Given the description of an element on the screen output the (x, y) to click on. 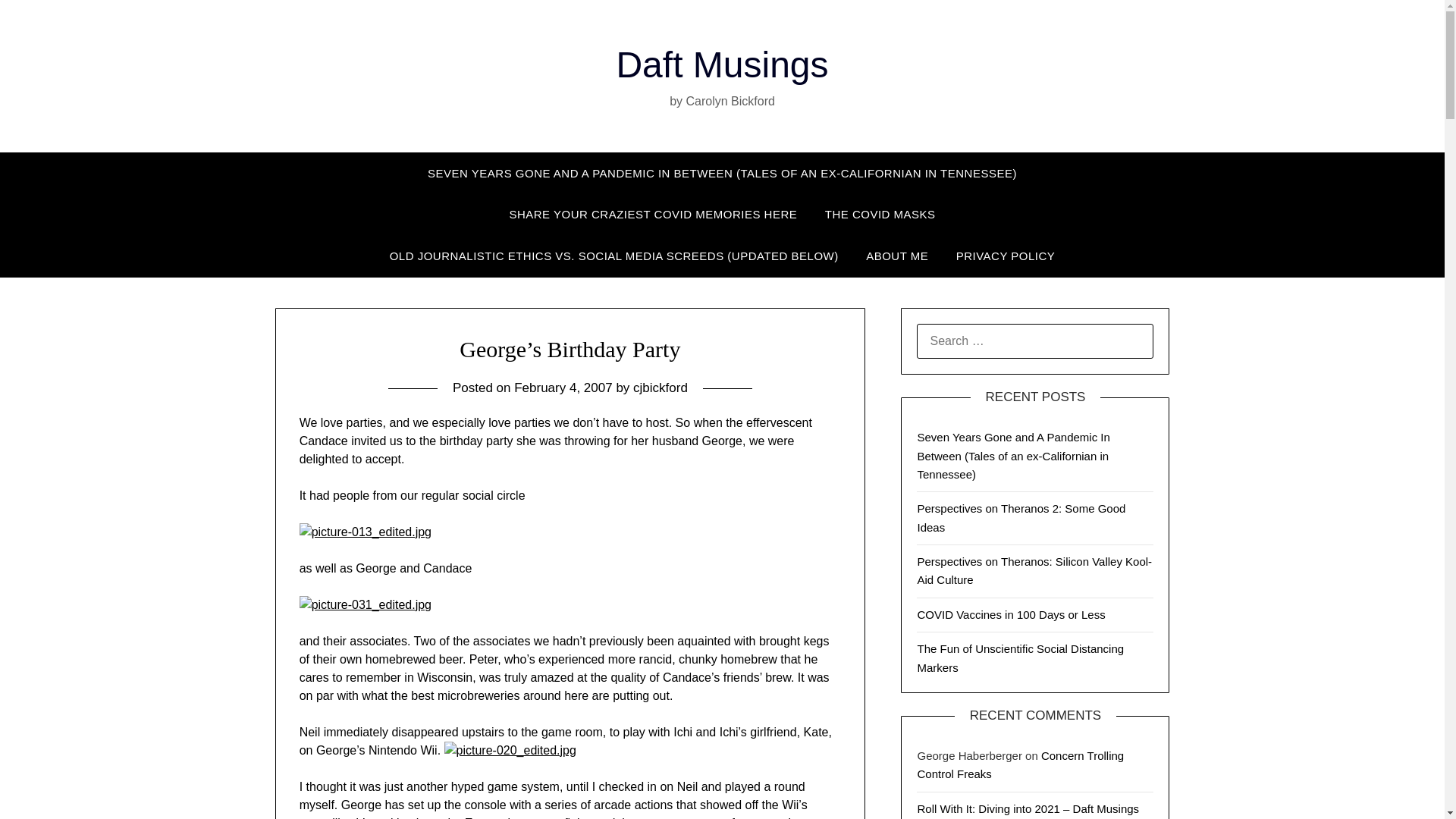
THE COVID MASKS (879, 214)
February 4, 2007 (562, 387)
The Fun of Unscientific Social Distancing Markers (1020, 657)
COVID Vaccines in 100 Days or Less (1011, 614)
Search (38, 22)
Perspectives on Theranos: Silicon Valley Kool-Aid Culture (1034, 570)
cjbickford (660, 387)
PRIVACY POLICY (1005, 255)
ABOUT ME (896, 255)
Perspectives on Theranos 2: Some Good Ideas (1021, 517)
